Given the description of an element on the screen output the (x, y) to click on. 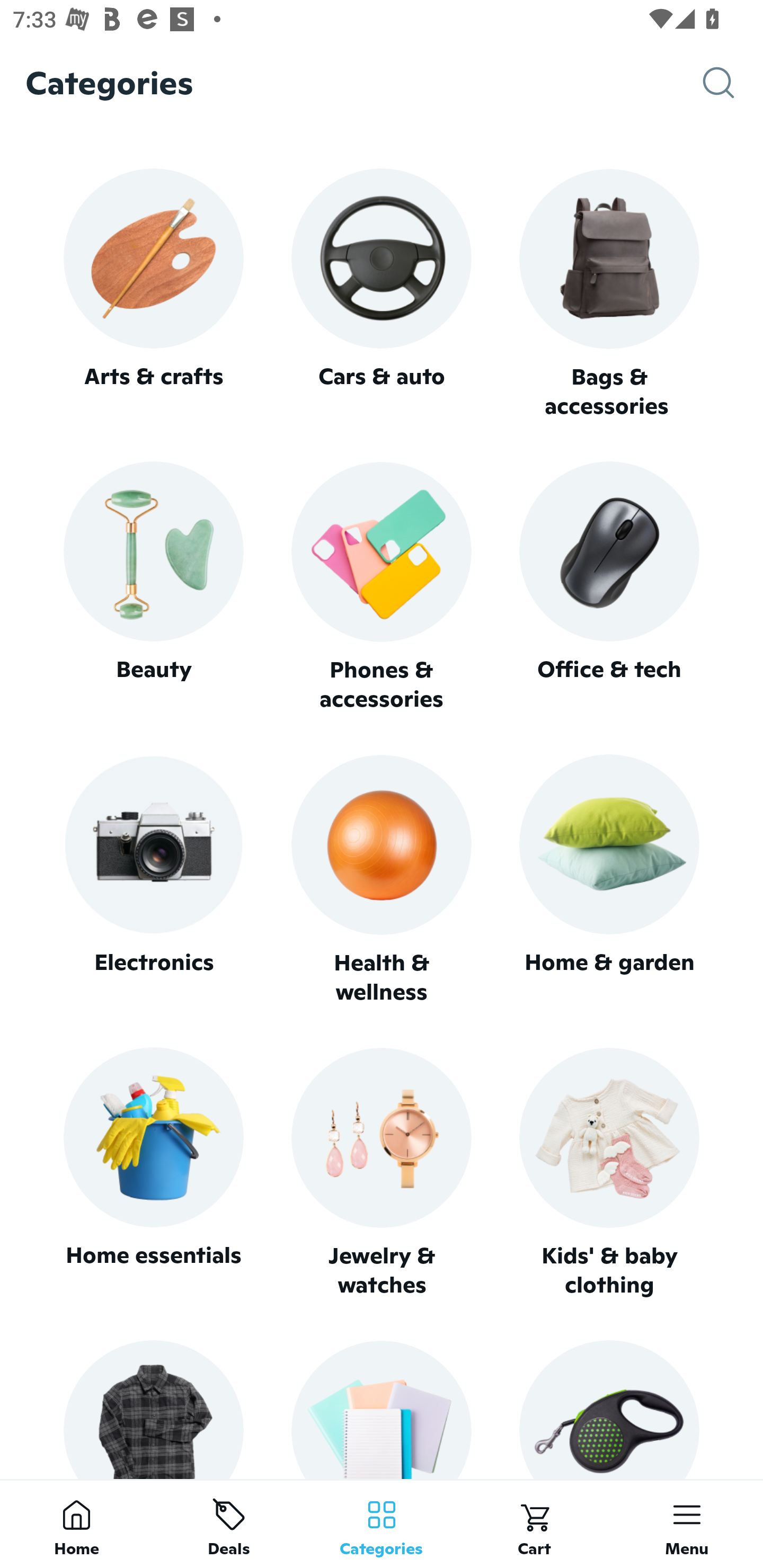
Search (732, 82)
Arts & crafts (153, 293)
Cars & auto (381, 293)
Bags & accessories  (609, 294)
Beauty (153, 586)
Office & tech (609, 586)
Phones & accessories (381, 587)
Electronics (153, 880)
Home & garden (609, 880)
Health & wellness (381, 880)
Home essentials (153, 1172)
Jewelry & watches (381, 1172)
Kids' & baby clothing (609, 1172)
Men's clothing (153, 1409)
Pet supplies (609, 1409)
Office & school supplies (381, 1409)
Home (76, 1523)
Deals (228, 1523)
Categories (381, 1523)
Cart (533, 1523)
Menu (686, 1523)
